Given the description of an element on the screen output the (x, y) to click on. 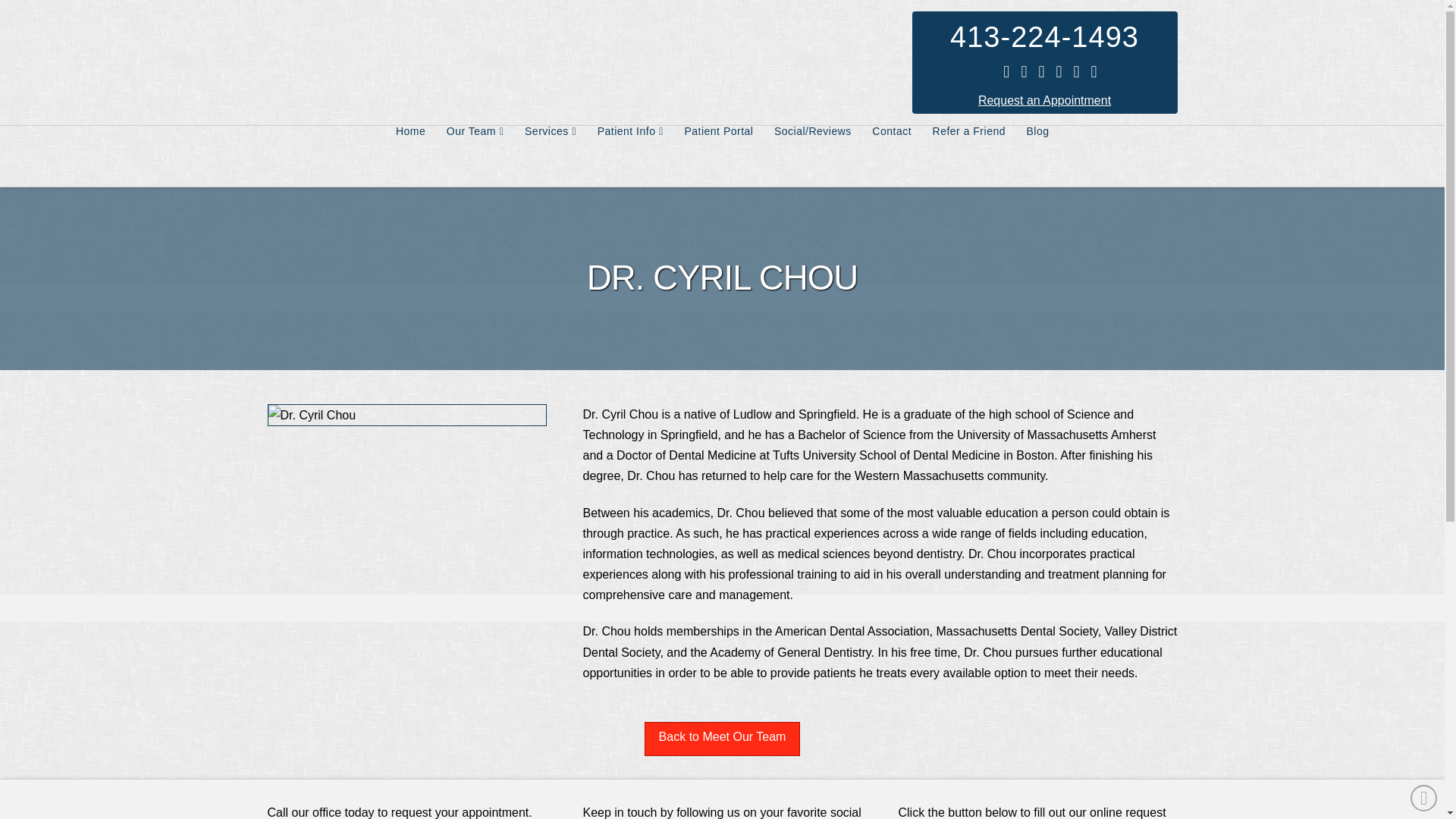
Patient Portal (717, 156)
Services (549, 156)
Our Team (474, 156)
Back to Top (1423, 797)
Patient Info (630, 156)
Refer a Friend (968, 156)
Meet Our Team (722, 738)
Contact (891, 156)
Request an Appointment (1044, 100)
